Given the description of an element on the screen output the (x, y) to click on. 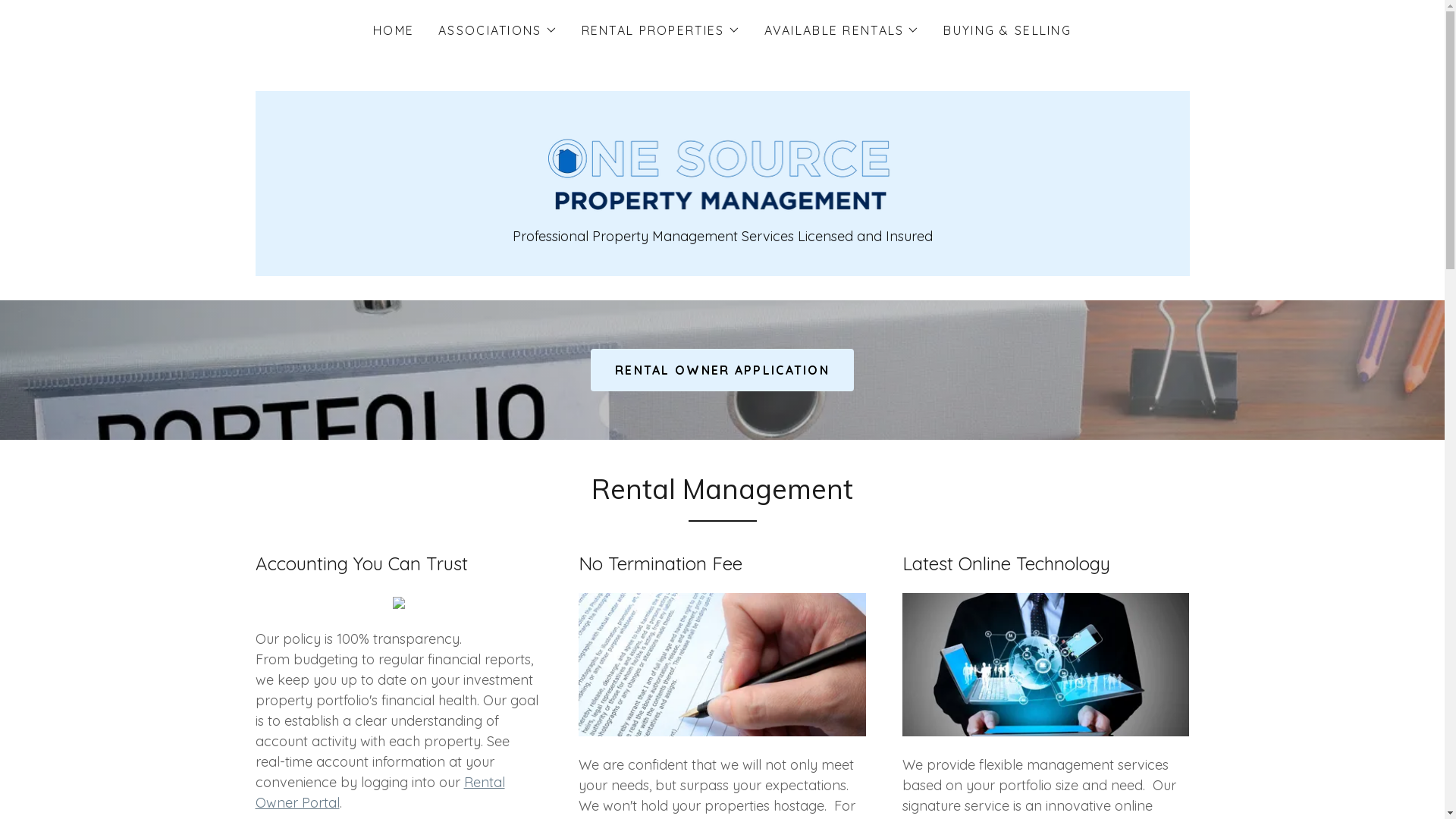
AVAILABLE RENTALS Element type: text (841, 30)
Rental Owner Portal Element type: text (379, 792)
RENTAL PROPERTIES Element type: text (660, 30)
1 Source Property Management  Element type: hover (722, 166)
BUYING & SELLING Element type: text (1007, 29)
RENTAL OWNER APPLICATION Element type: text (721, 369)
ASSOCIATIONS Element type: text (497, 30)
HOME Element type: text (393, 29)
